Given the description of an element on the screen output the (x, y) to click on. 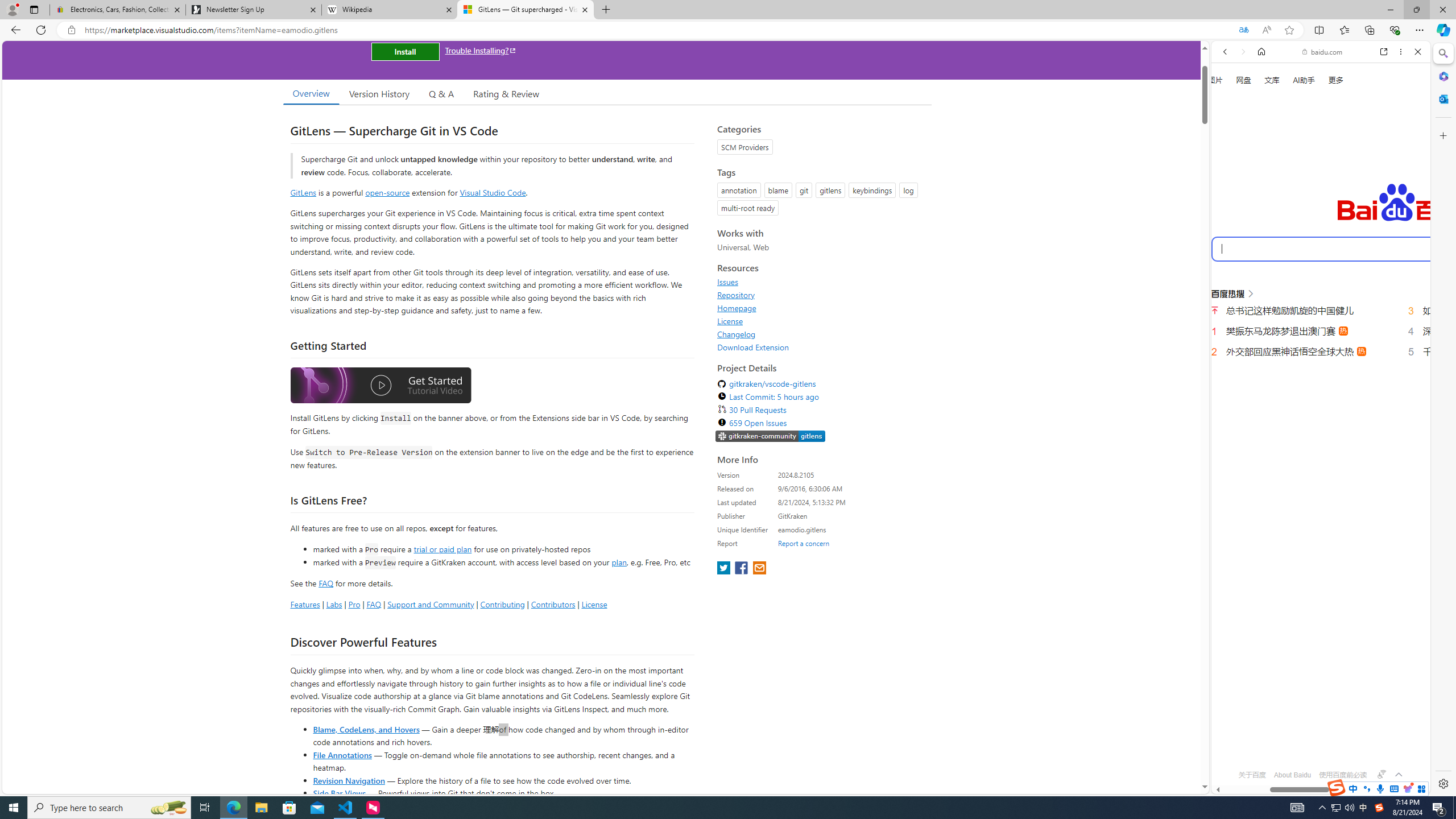
open-source (387, 192)
FAQ (373, 603)
Download Extension (820, 346)
Issues (727, 281)
trial or paid plan (442, 548)
Customize (1442, 135)
share extension on email (759, 568)
https://slack.gitkraken.com// (769, 436)
Cambridge Dictionary (1315, 397)
